Given the description of an element on the screen output the (x, y) to click on. 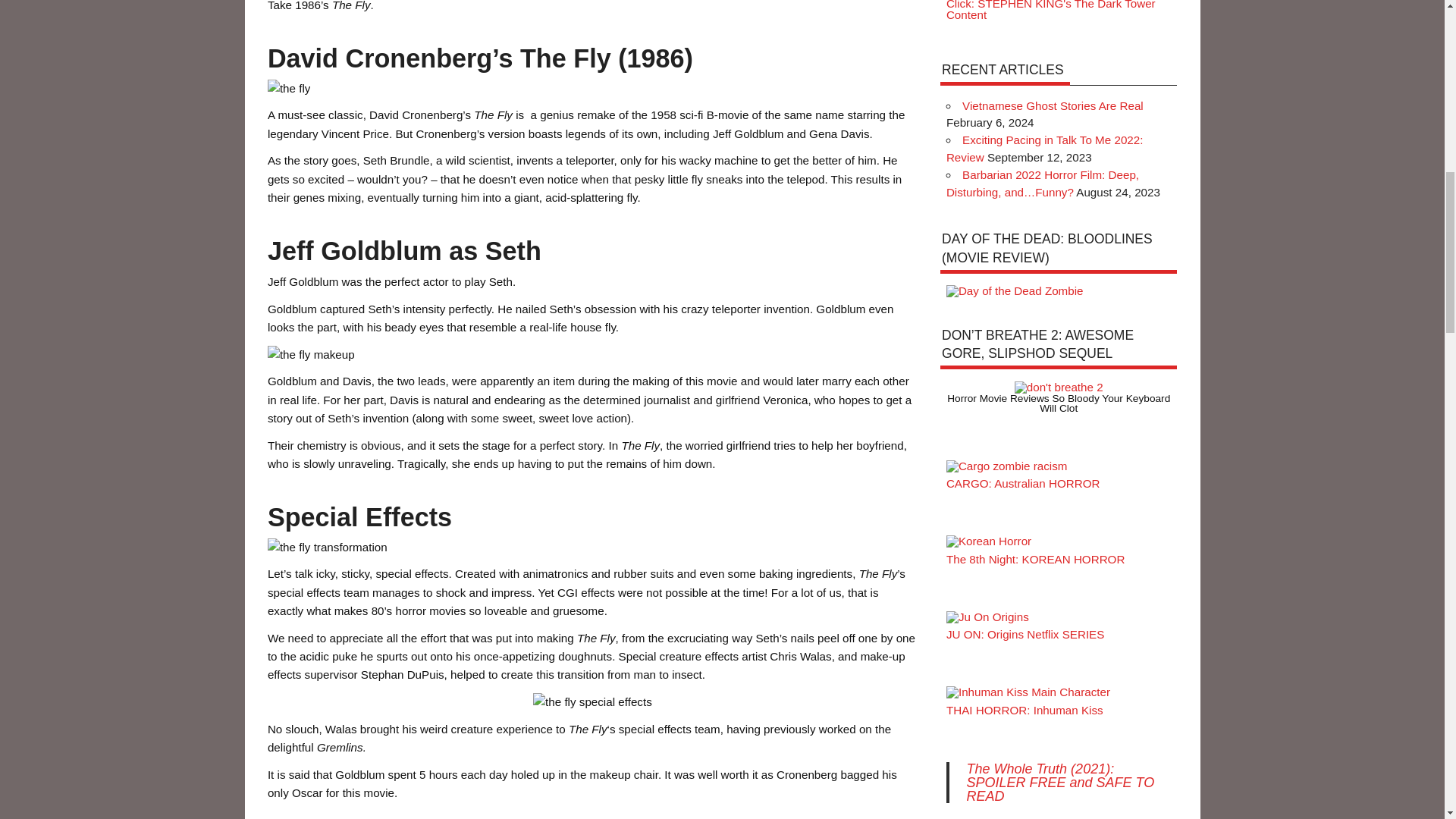
Click: STEPHEN KING's The Dark Tower Content (1051, 10)
Vietnamese Ghost Stories Are Real (1052, 105)
Exciting Pacing in Talk To Me 2022: Review (1044, 148)
